Given the description of an element on the screen output the (x, y) to click on. 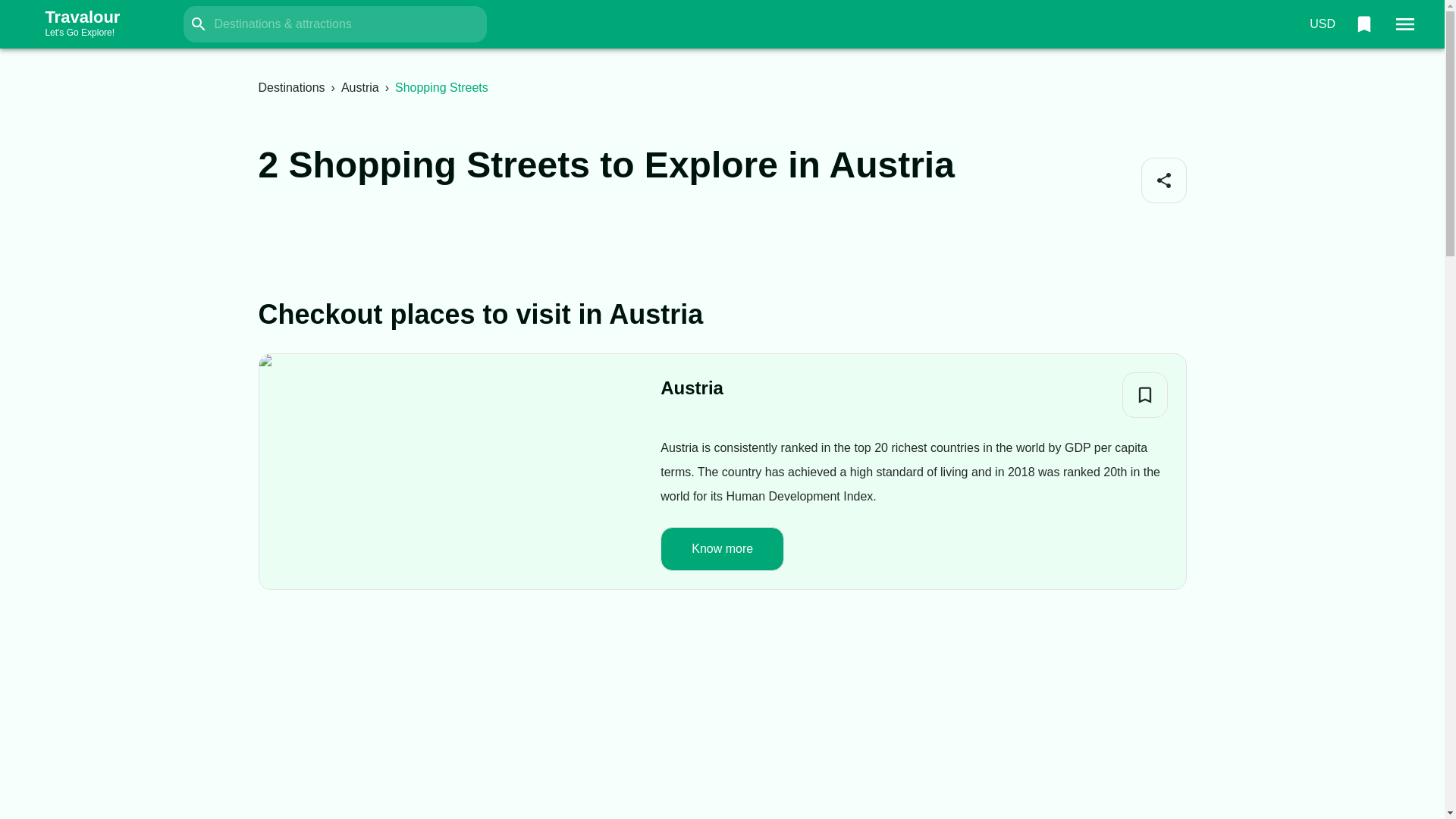
Destinations (290, 87)
Know more (722, 548)
Add to Bucket List (1144, 394)
Share (1163, 180)
USD (1321, 23)
Austria (359, 87)
0 (1363, 24)
Austria (97, 23)
